Given the description of an element on the screen output the (x, y) to click on. 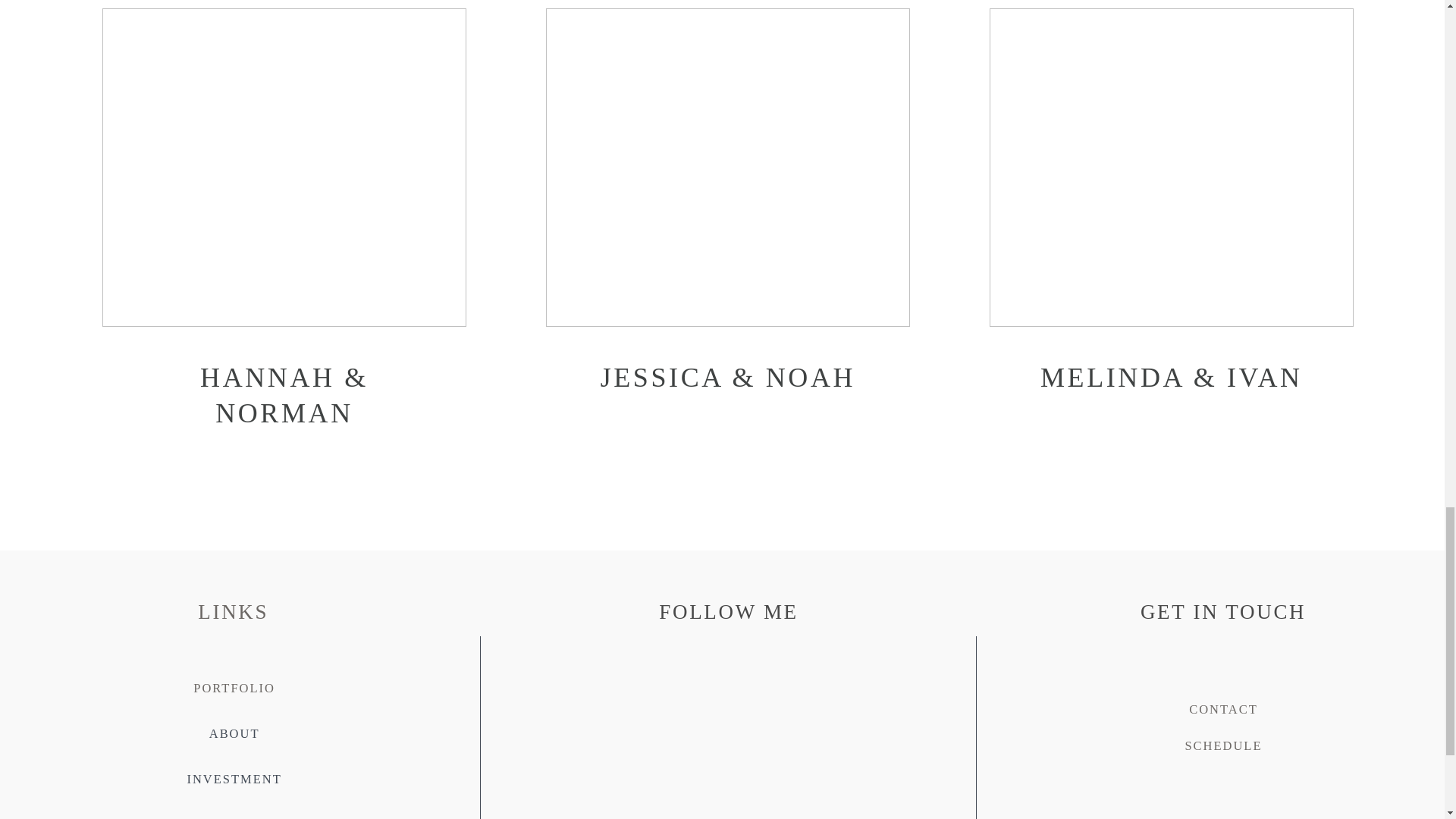
INVESTMENT (233, 779)
PORTFOLIO (234, 687)
CONTACT (1223, 708)
SCHEDULE (1223, 745)
ABOUT (234, 733)
